Given the description of an element on the screen output the (x, y) to click on. 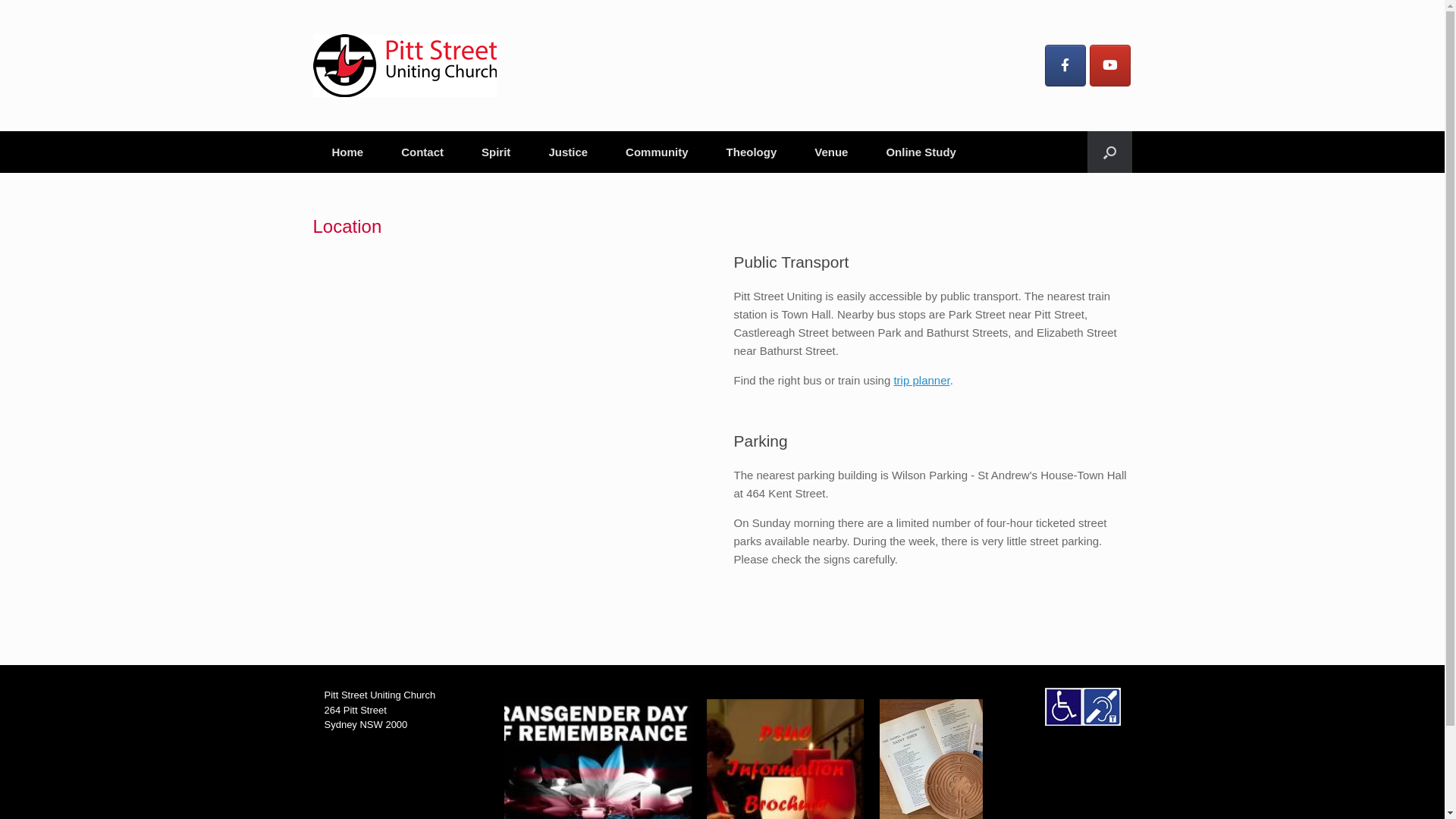
Theology Element type: text (751, 151)
Spirit Element type: text (495, 151)
trip planner Element type: text (921, 379)
Pitt Street Uniting Church Element type: hover (403, 65)
Pitt Street Uniting Church on Facebook Element type: hover (1064, 65)
Pitt Street Uniting Church on Youtube Element type: hover (1109, 65)
Community Element type: text (656, 151)
Justice Element type: text (567, 151)
Venue Element type: text (830, 151)
Home Element type: text (347, 151)
Online Study Element type: text (920, 151)
Contact Element type: text (422, 151)
